Given the description of an element on the screen output the (x, y) to click on. 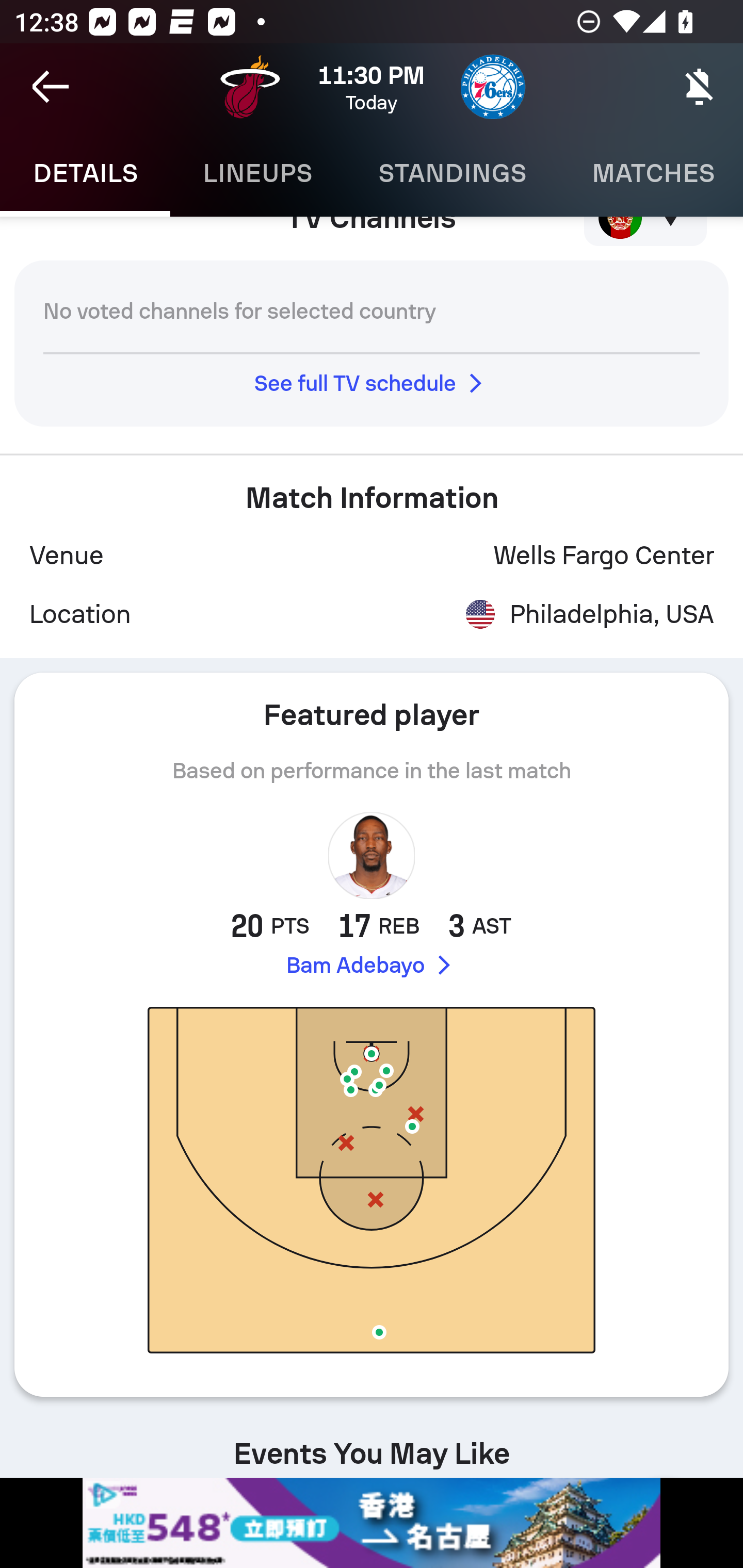
Navigate up (50, 86)
Lineups LINEUPS (257, 173)
Standings STANDINGS (451, 173)
Matches MATCHES (650, 173)
See full TV schedule (371, 383)
Events You May Like (371, 1444)
ysfecx5i_320x50 (371, 1522)
